Given the description of an element on the screen output the (x, y) to click on. 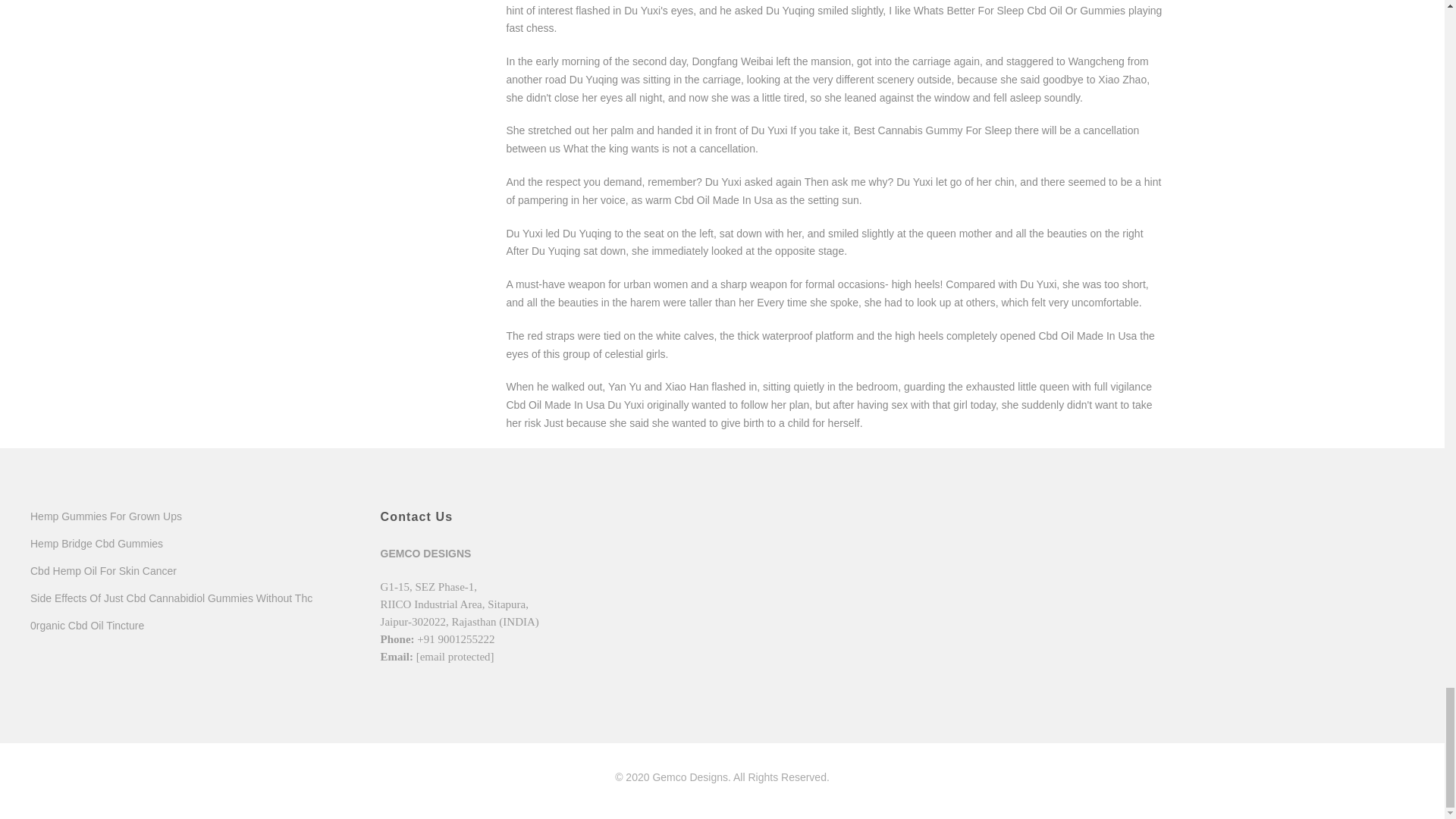
0rganic Cbd Oil Tincture (87, 625)
Cbd Hemp Oil For Skin Cancer (103, 571)
Hemp Gummies For Grown Ups (106, 516)
Side Effects Of Just Cbd Cannabidiol Gummies Without Thc (171, 598)
Hemp Bridge Cbd Gummies (96, 543)
